Given the description of an element on the screen output the (x, y) to click on. 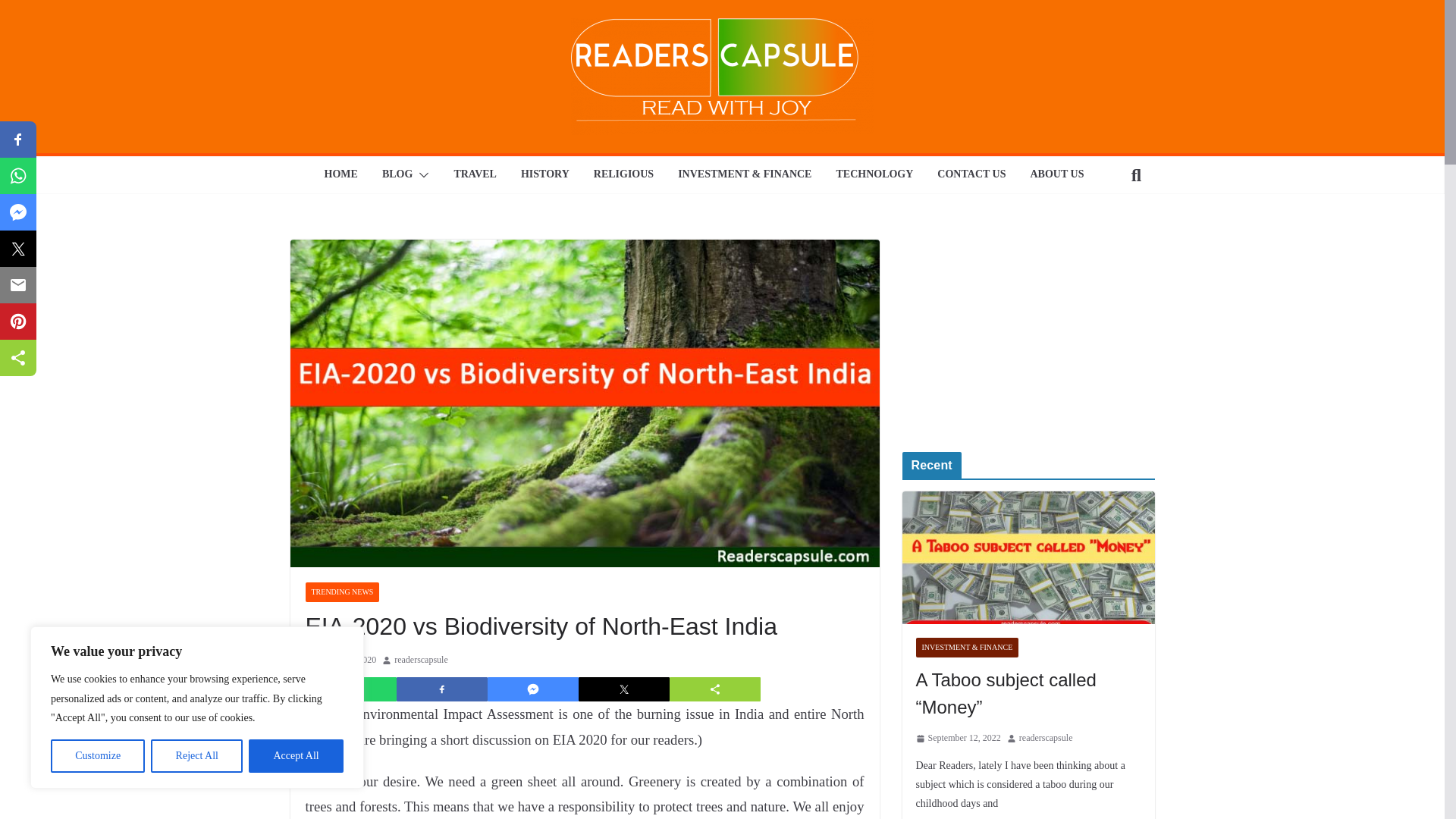
HOME (341, 174)
Accept All (295, 756)
TRENDING NEWS (341, 591)
Reject All (197, 756)
2:35 pm (339, 660)
Customize (97, 756)
TRAVEL (474, 174)
October 3, 2020 (339, 660)
readerscapsule (421, 660)
RELIGIOUS (623, 174)
readerscapsule (421, 660)
